Given the description of an element on the screen output the (x, y) to click on. 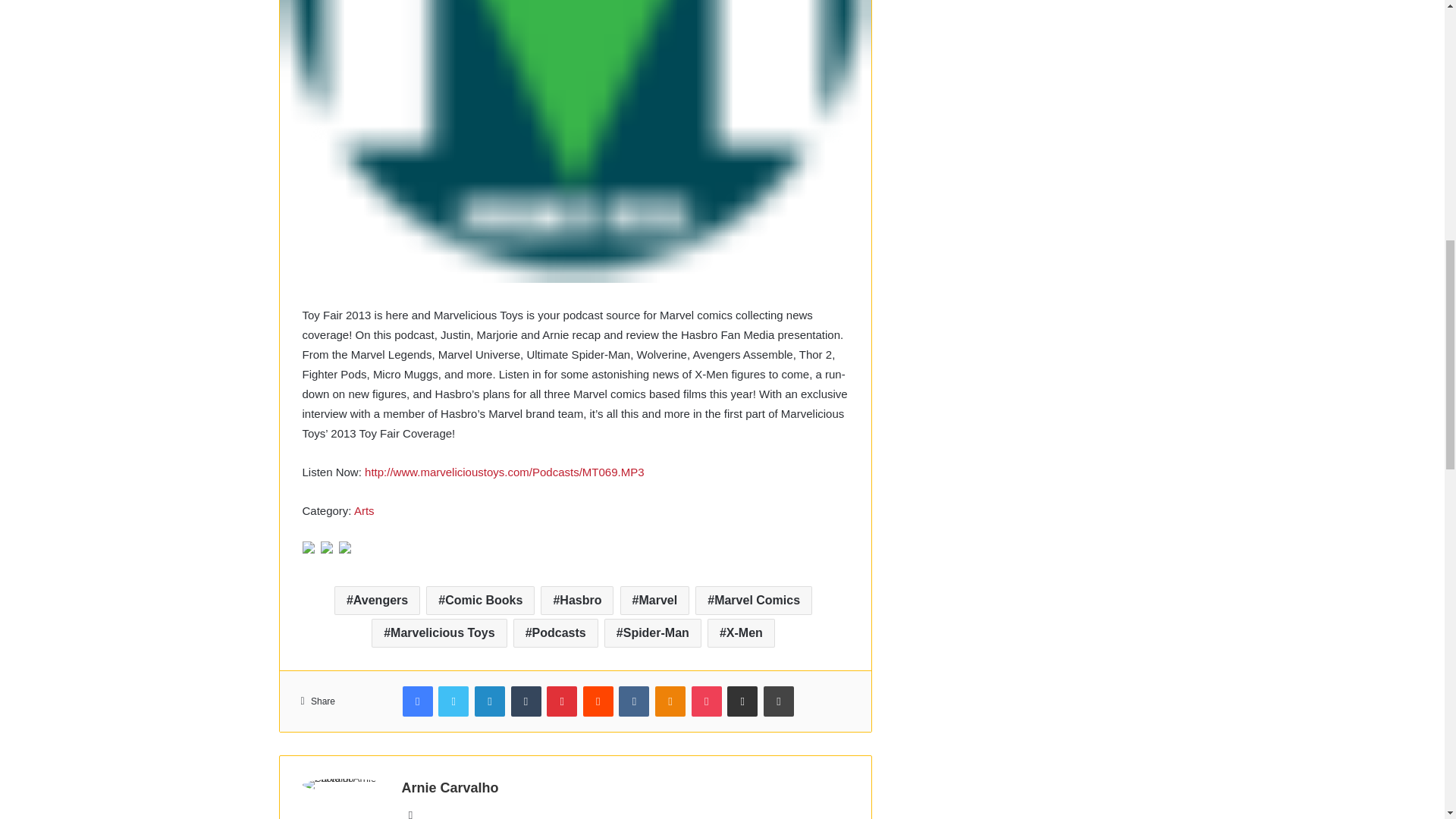
New Podcast: Issue 69:  Toy Fair 2013 Part 1 - Hasbro (504, 472)
Arts (363, 510)
